Given the description of an element on the screen output the (x, y) to click on. 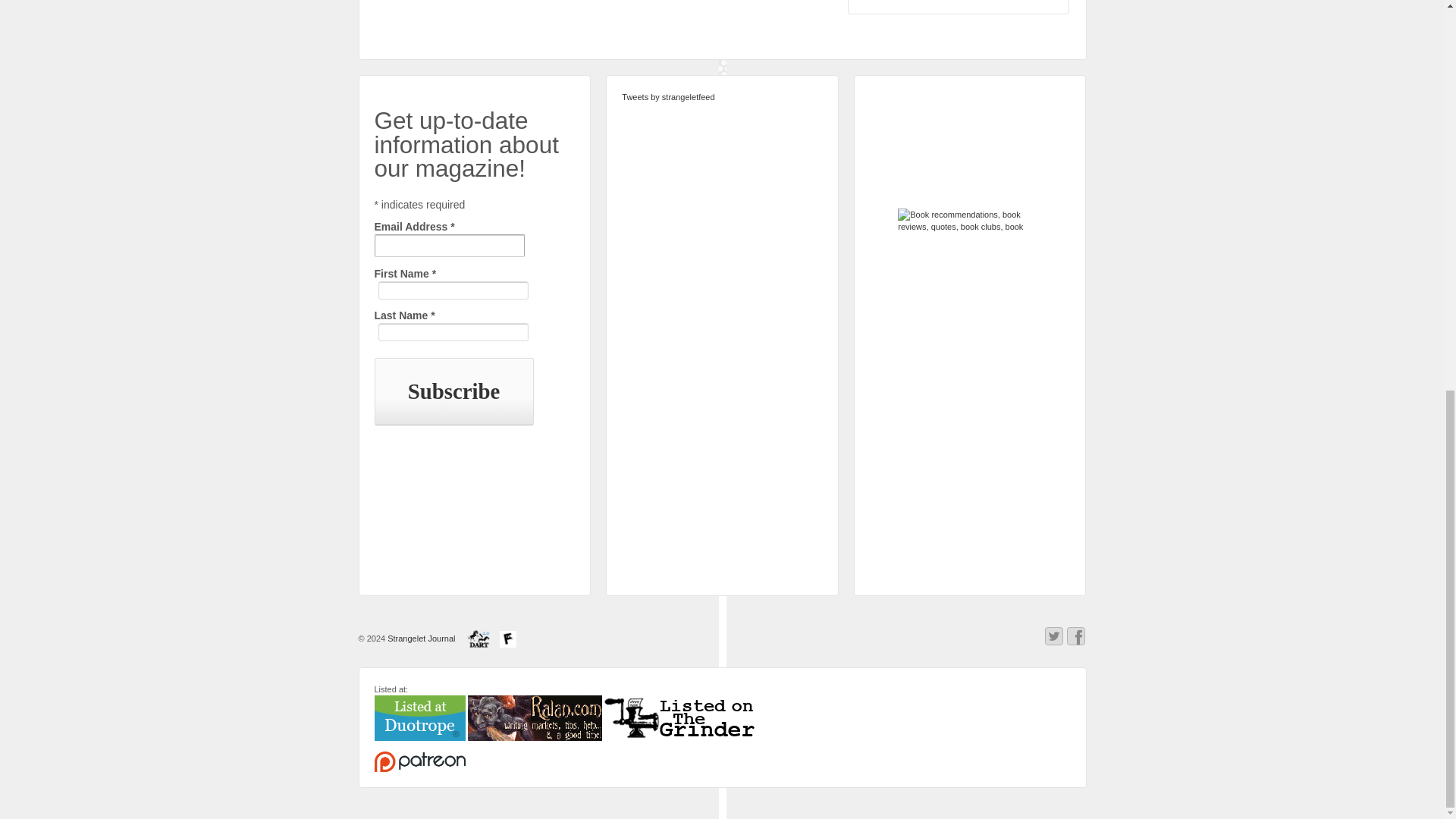
Strangelet Journal (421, 637)
Tweets by strangeletfeed (667, 96)
Subscribe (454, 391)
Subscribe (454, 391)
Strangelet Journal (421, 637)
